Given the description of an element on the screen output the (x, y) to click on. 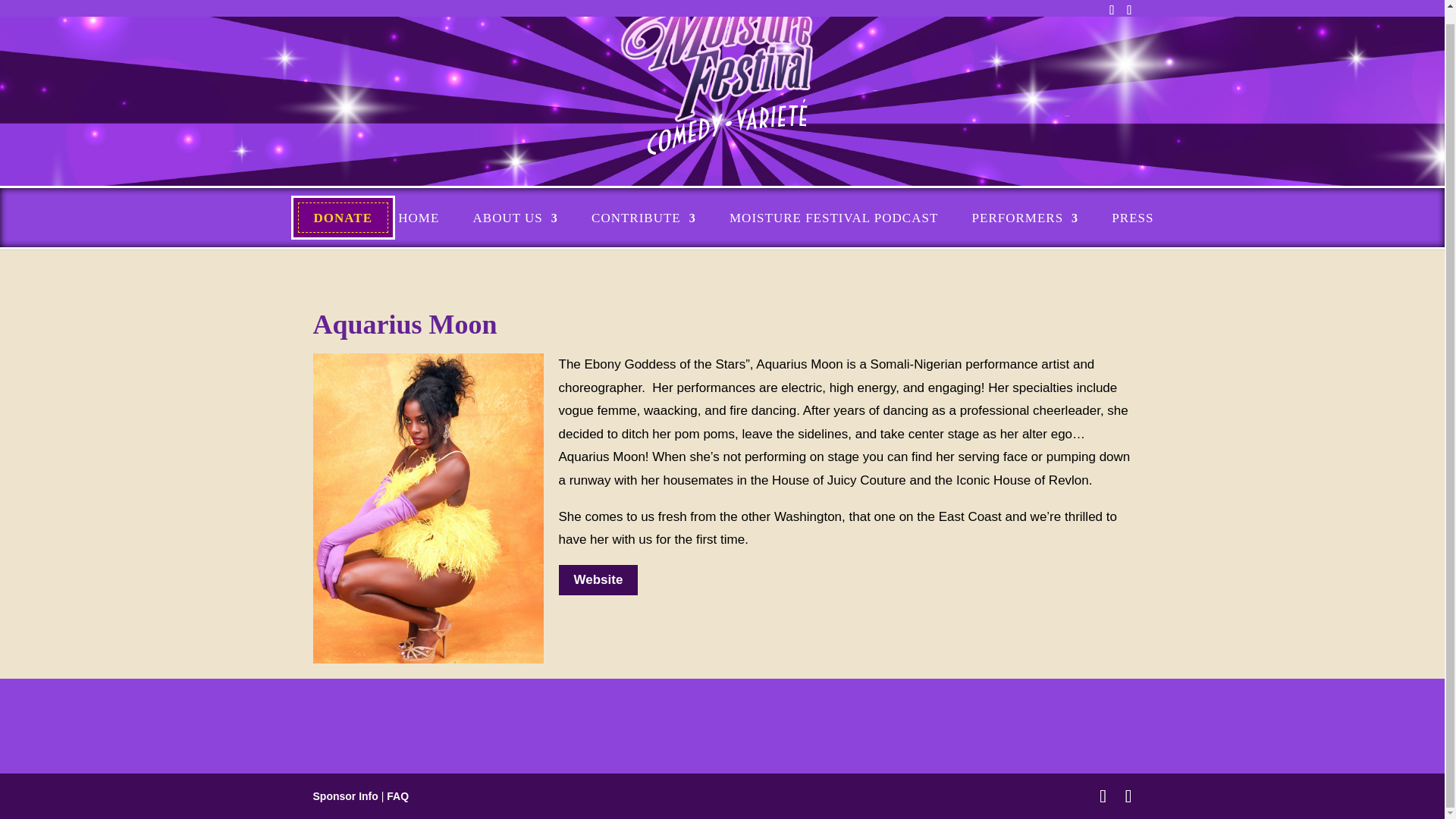
ABOUT US (515, 217)
CONTRIBUTE (643, 217)
DONATE (343, 217)
HOME (418, 217)
PRESS (1132, 217)
MOISTURE FESTIVAL PODCAST (833, 217)
PERFORMERS (1025, 217)
